Given the description of an element on the screen output the (x, y) to click on. 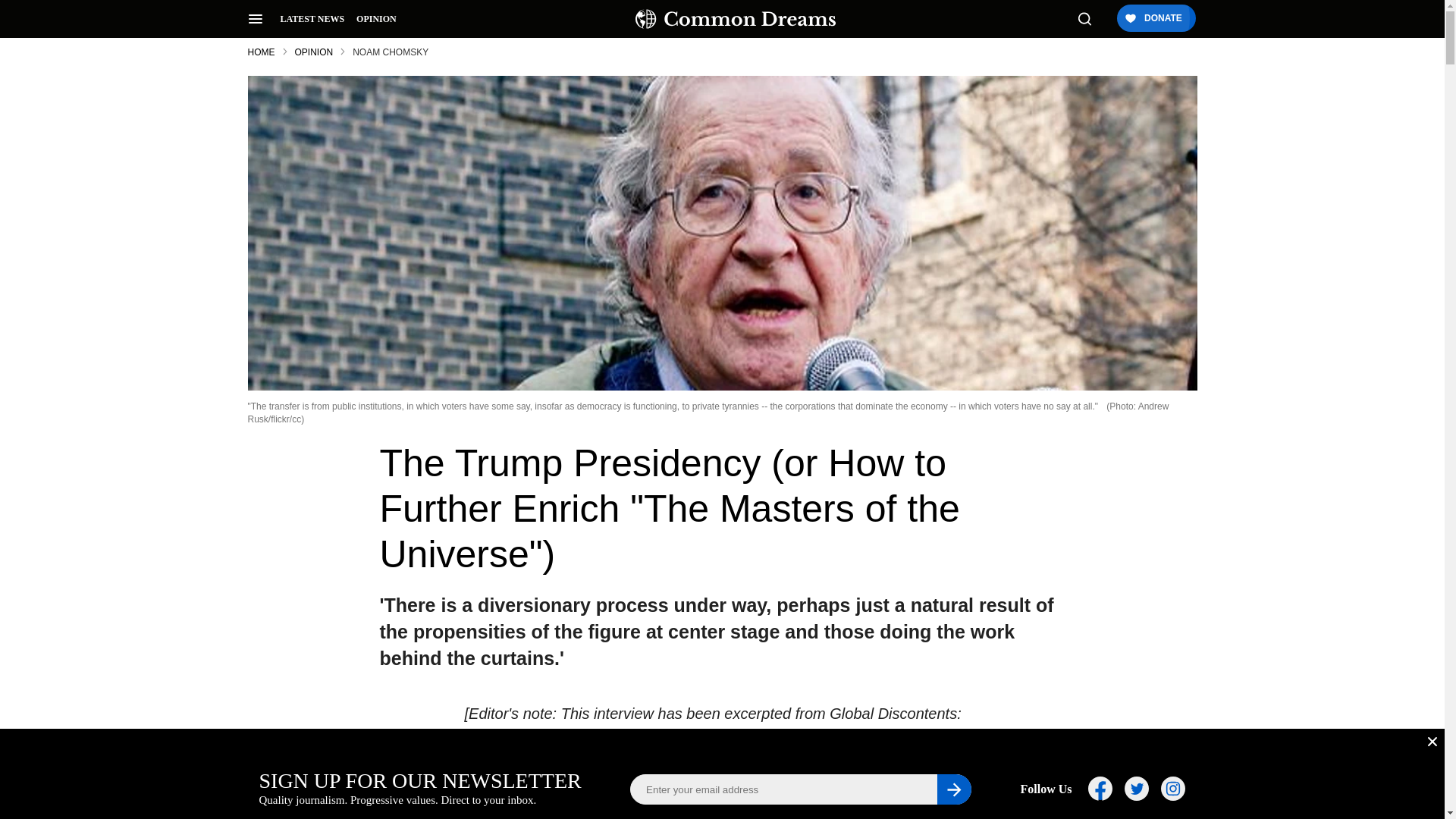
Go to Andrew Rusk's photostream (708, 413)
OPINION (376, 18)
Donate Button (1154, 19)
Common Dreams (734, 17)
LATEST NEWS (313, 18)
